Given the description of an element on the screen output the (x, y) to click on. 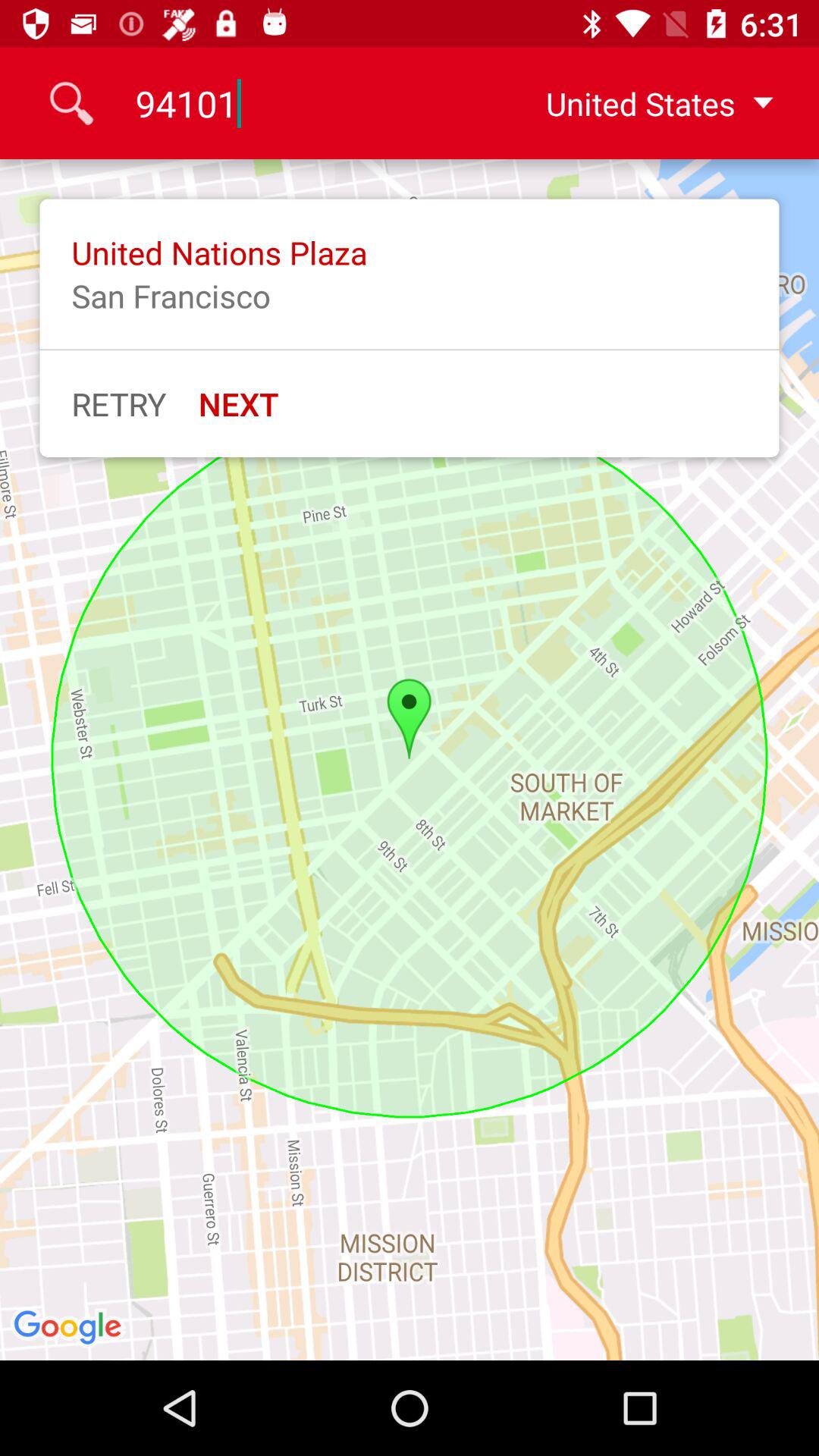
swipe to 94101 icon (309, 103)
